Given the description of an element on the screen output the (x, y) to click on. 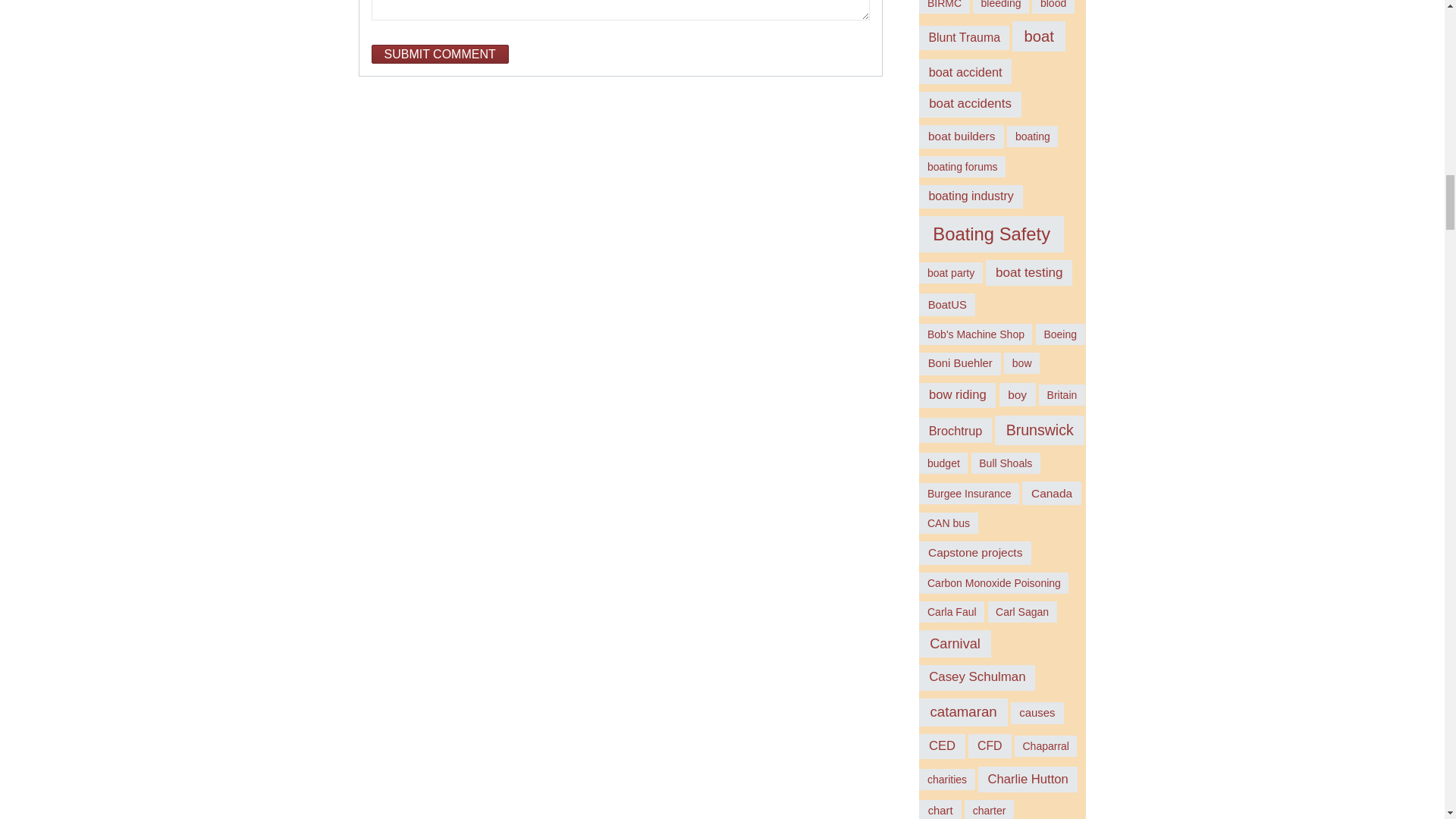
Submit Comment (439, 54)
